Given the description of an element on the screen output the (x, y) to click on. 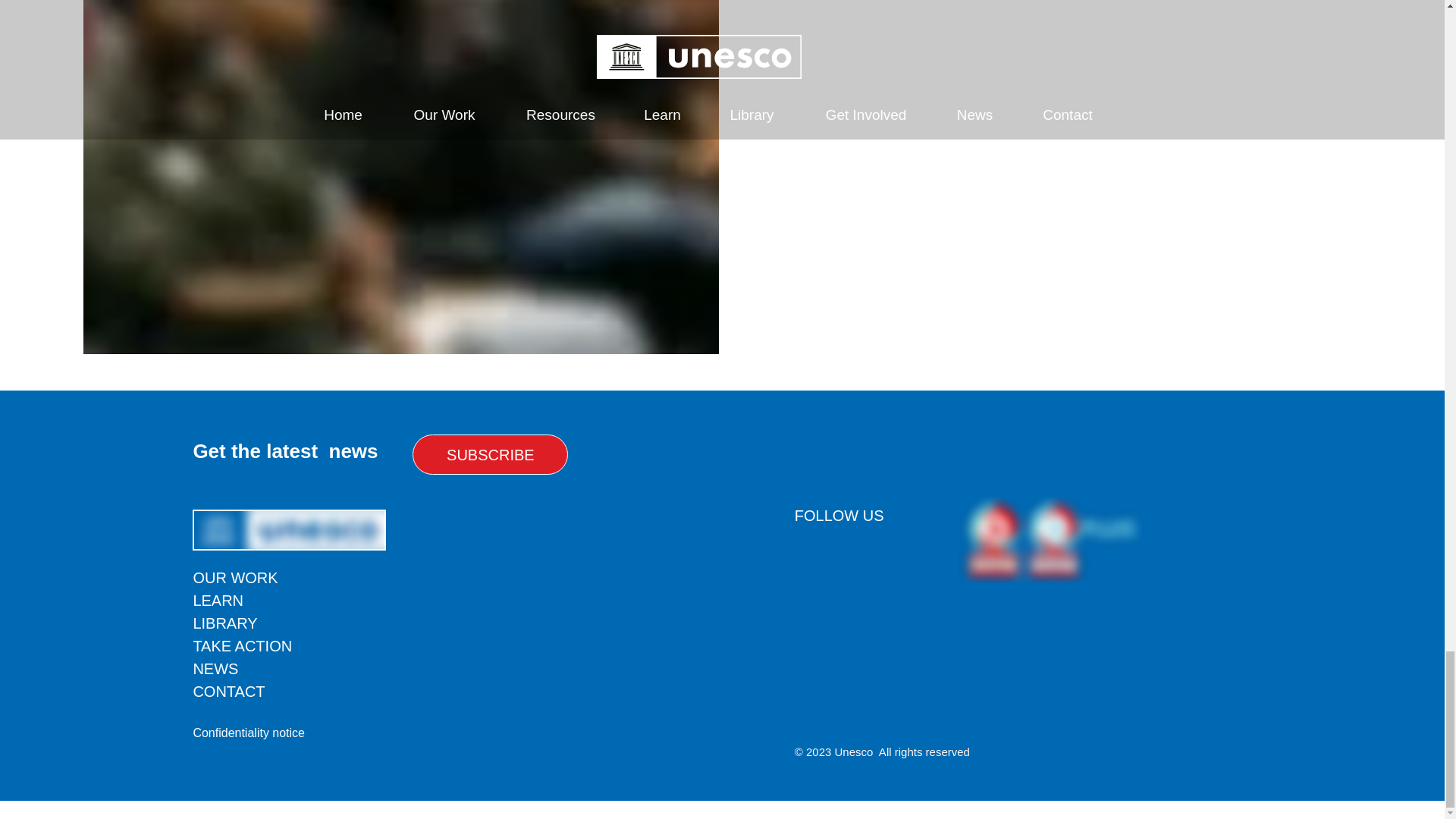
Confidentiality notice (248, 732)
CONTACT (228, 691)
SUBSCRIBE (489, 454)
TAKE ACTION (242, 646)
OUR WORK (235, 577)
NEWS (215, 668)
